Given the description of an element on the screen output the (x, y) to click on. 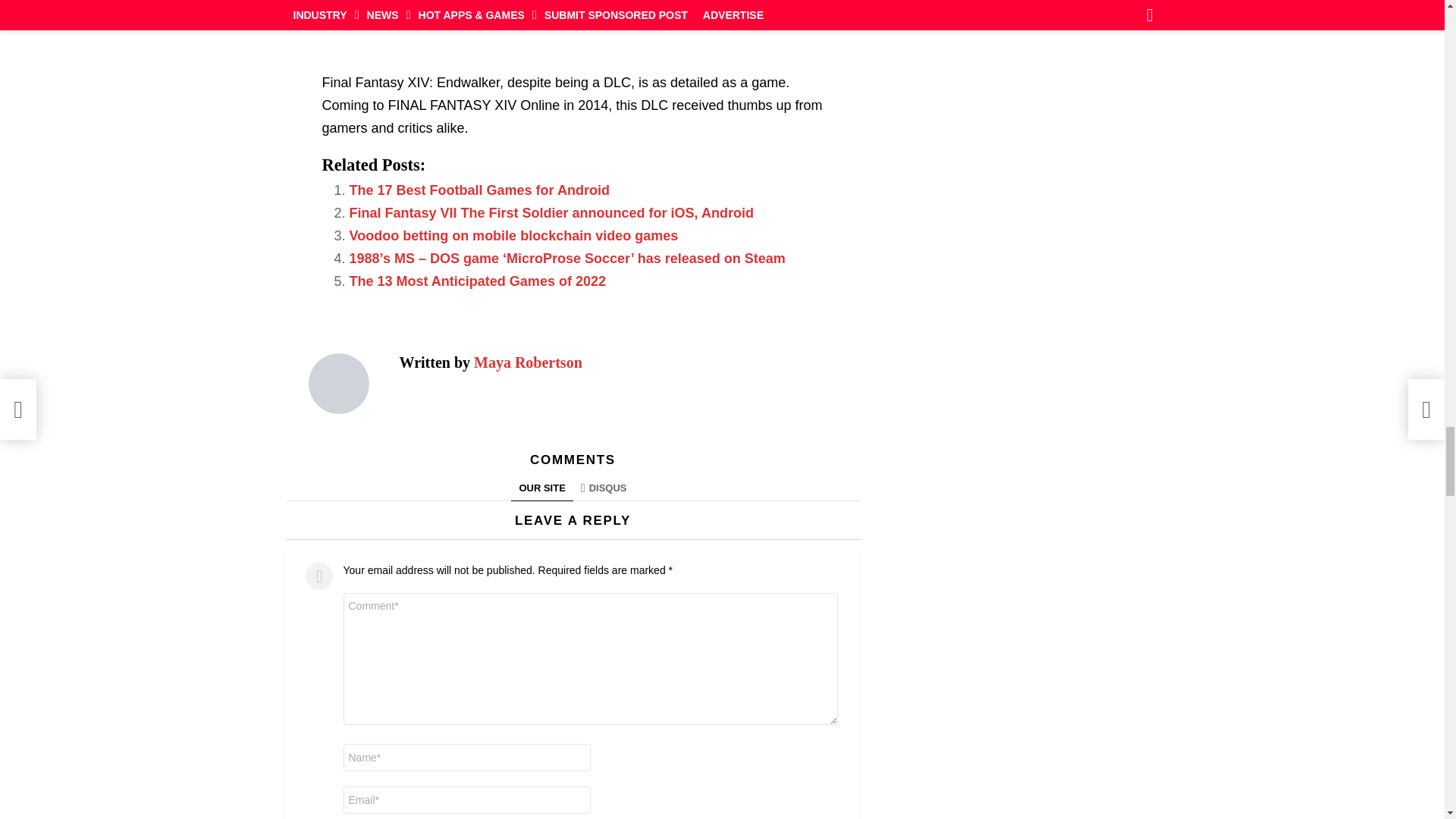
The 17 Best Football Games for Android (478, 190)
FINAL FANTASY XIV: ENDWALKER Launch Trailer (572, 28)
